Given the description of an element on the screen output the (x, y) to click on. 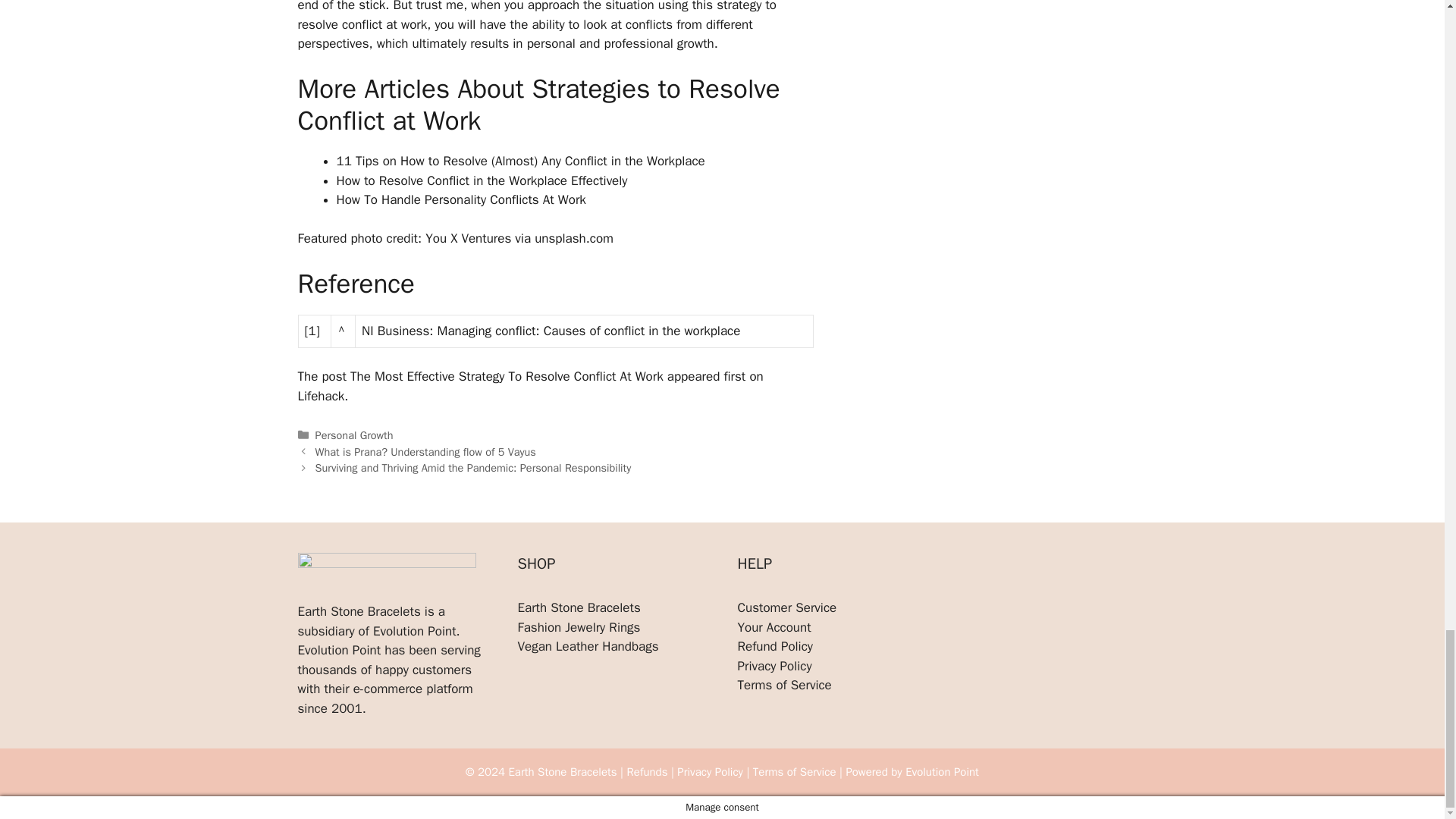
Your Account (773, 627)
Vegan Leather Handbags (587, 646)
Refund Policy (774, 646)
Privacy Policy (773, 666)
Customer Service (785, 607)
Fashion Jewelry Rings (578, 627)
Earth Stone Bracelets (578, 607)
What is Prana? Understanding flow of 5 Vayus (425, 451)
Personal Growth (354, 435)
